Given the description of an element on the screen output the (x, y) to click on. 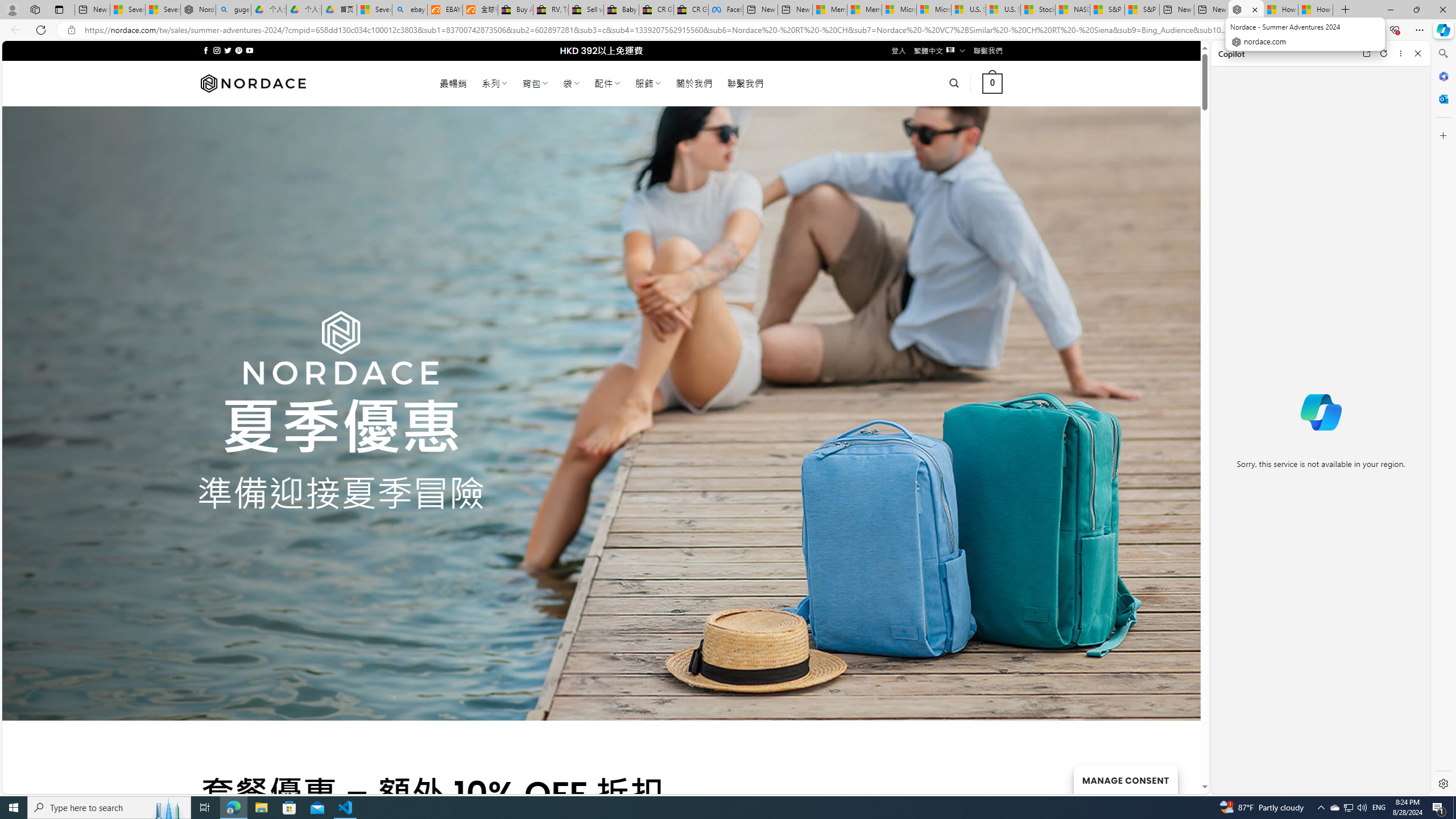
Side bar (1443, 418)
